Given the description of an element on the screen output the (x, y) to click on. 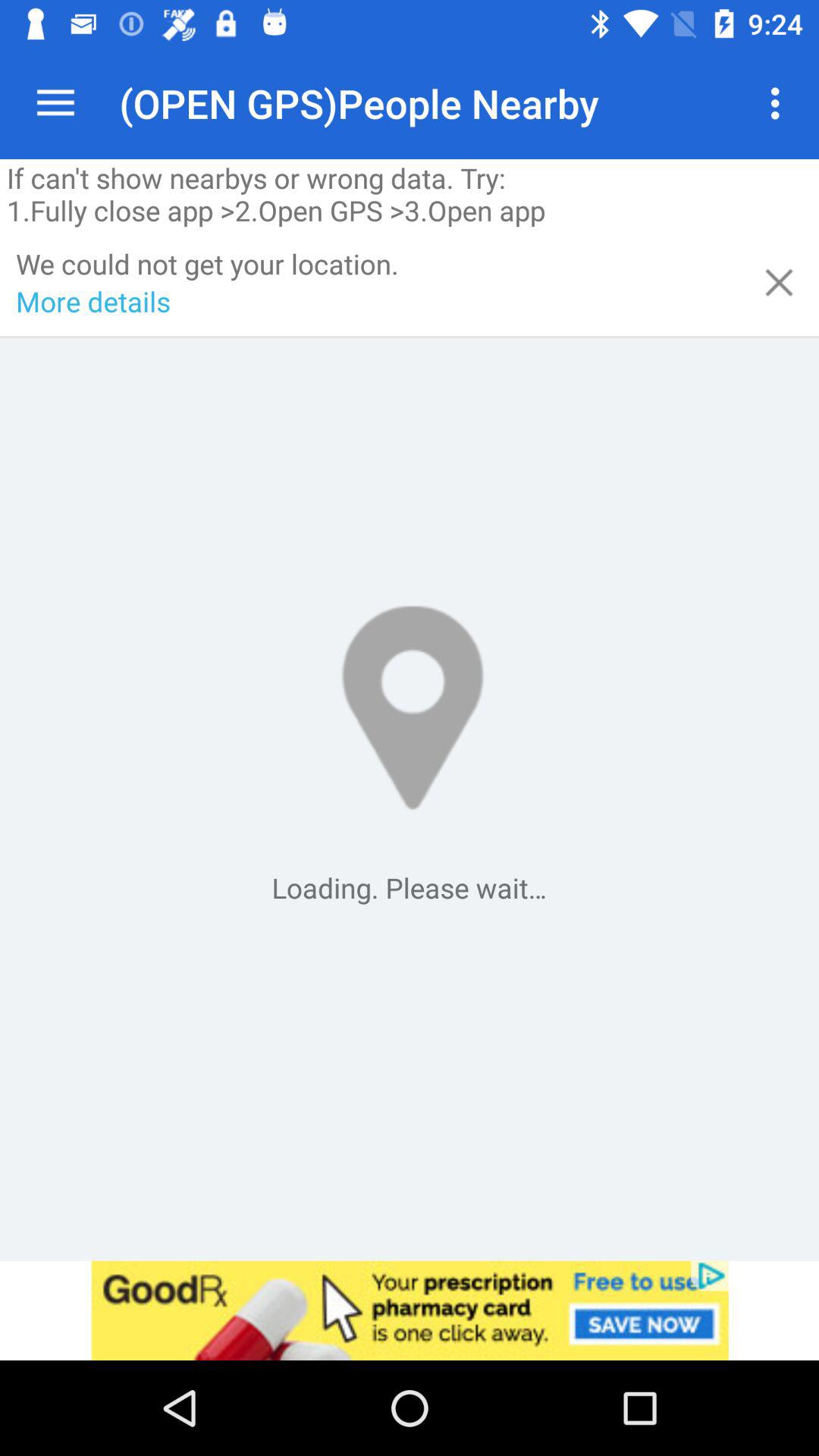
view advertisement (409, 1310)
